Given the description of an element on the screen output the (x, y) to click on. 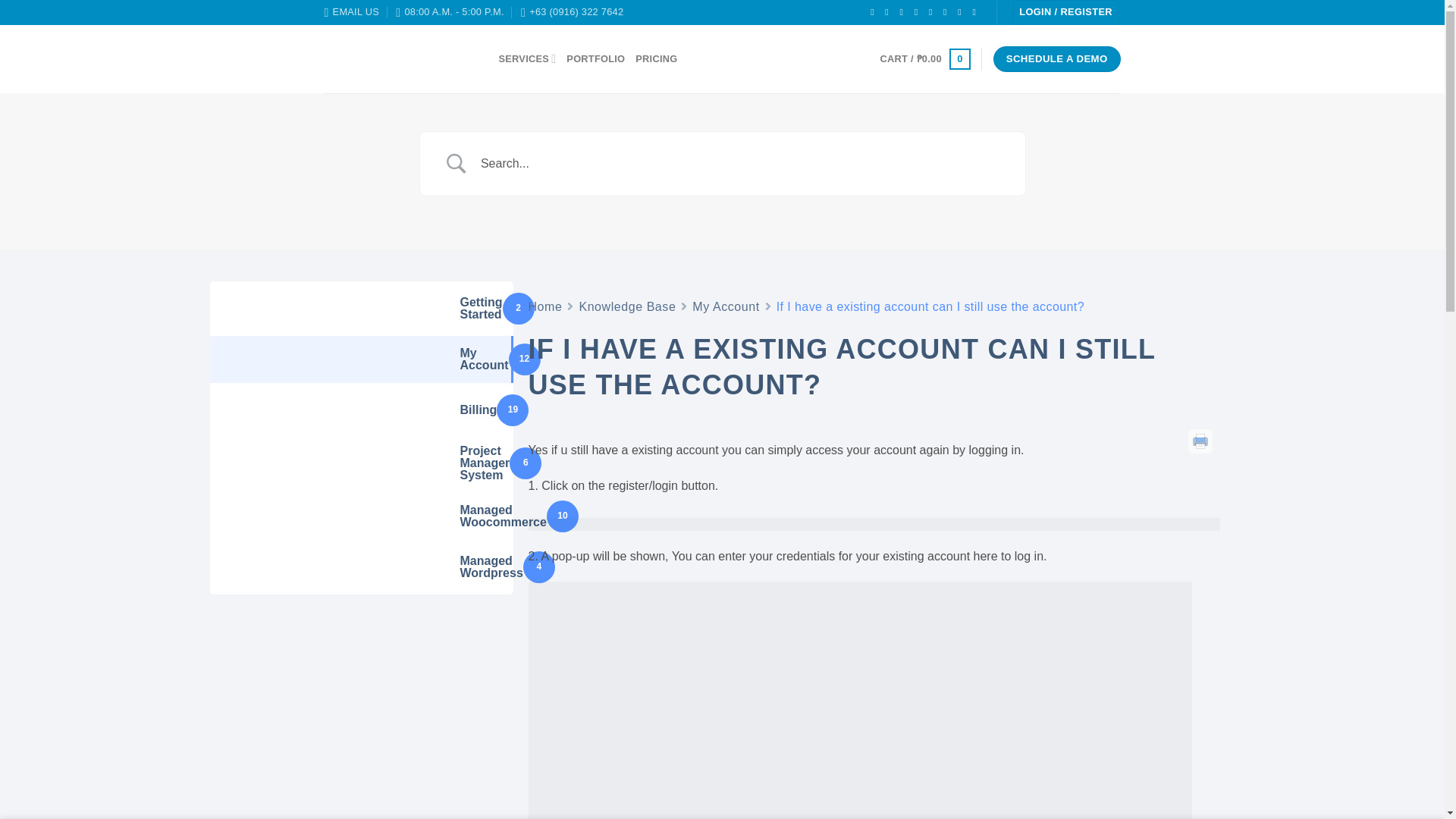
EMAIL US (351, 11)
SCHEDULE A DEMO (1056, 58)
PORTFOLIO (595, 58)
08:00 A.M. - 5:00 P.M. (449, 11)
PRICING (655, 58)
SERVICES (527, 58)
Login (1065, 12)
ROC.PH - Unlimited Digital Marketing Services (400, 58)
